Given the description of an element on the screen output the (x, y) to click on. 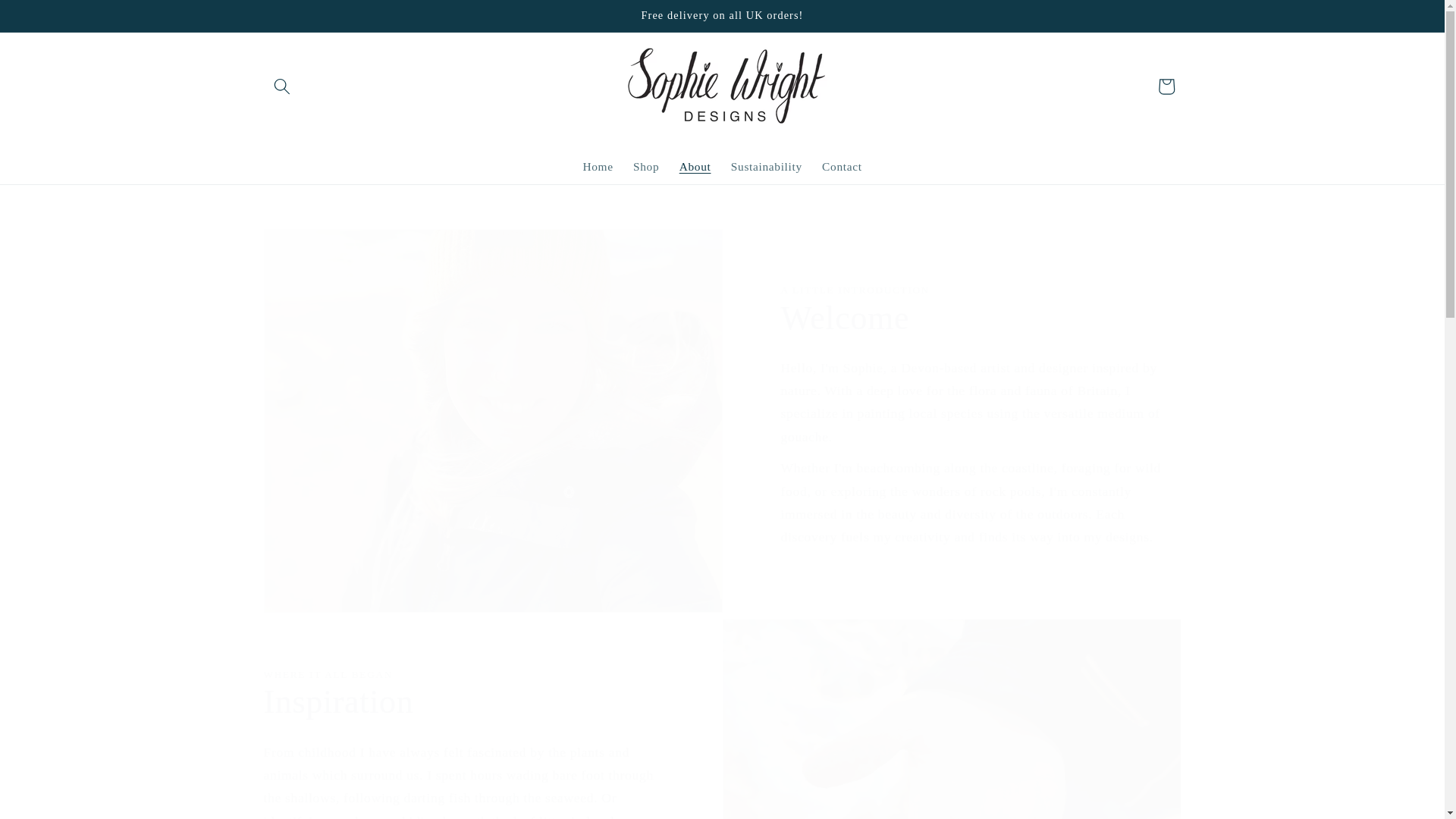
Home (597, 166)
Cart (1166, 85)
About (694, 166)
Skip to content (50, 19)
Shop (646, 166)
Sustainability (766, 166)
Contact (842, 166)
